Given the description of an element on the screen output the (x, y) to click on. 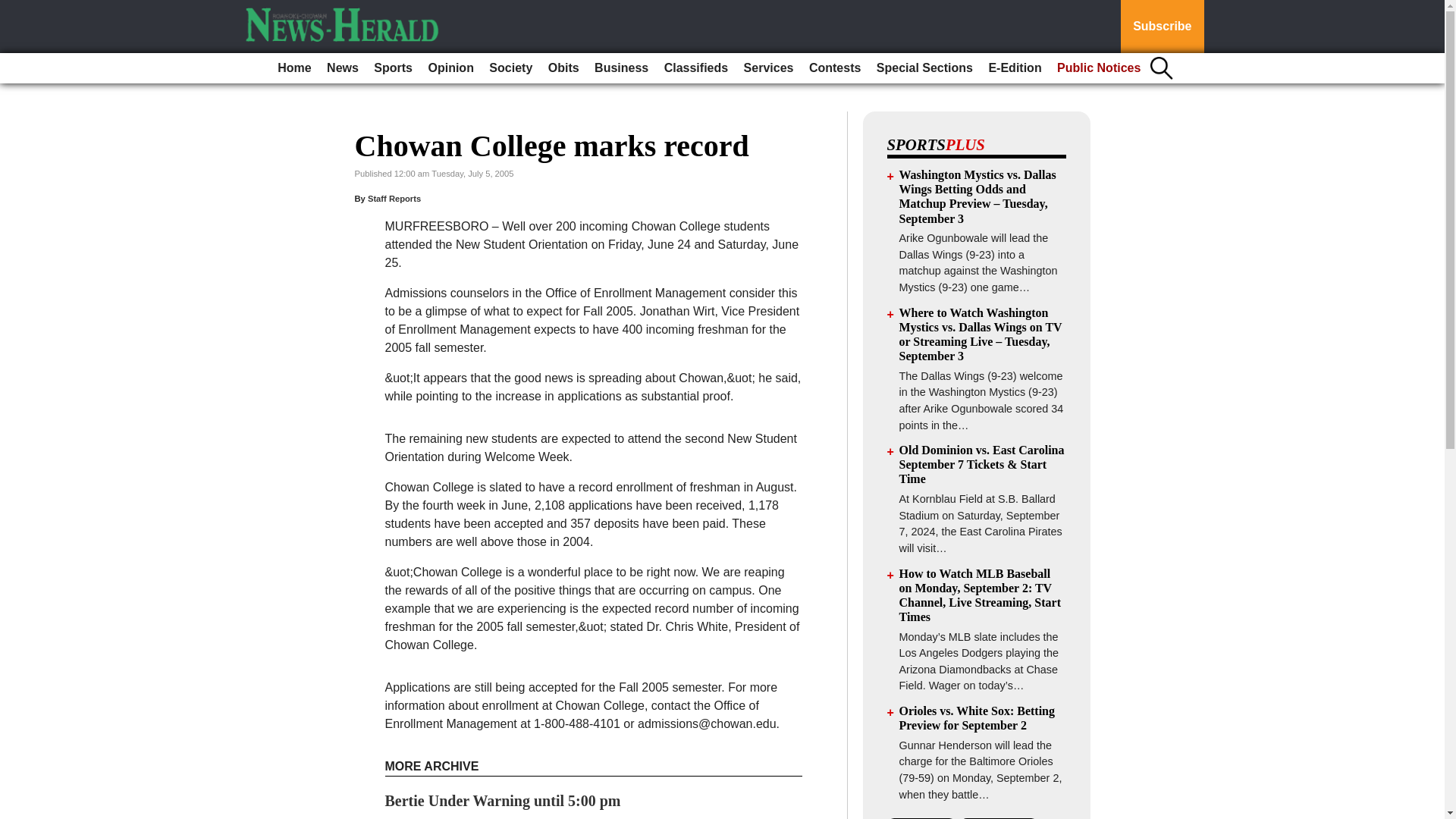
Public Notices (1099, 68)
News (342, 68)
Contests (834, 68)
Classifieds (695, 68)
Staff Reports (394, 198)
Society (510, 68)
Opinion (450, 68)
Obits (563, 68)
E-Edition (1013, 68)
Go (13, 9)
